Given the description of an element on the screen output the (x, y) to click on. 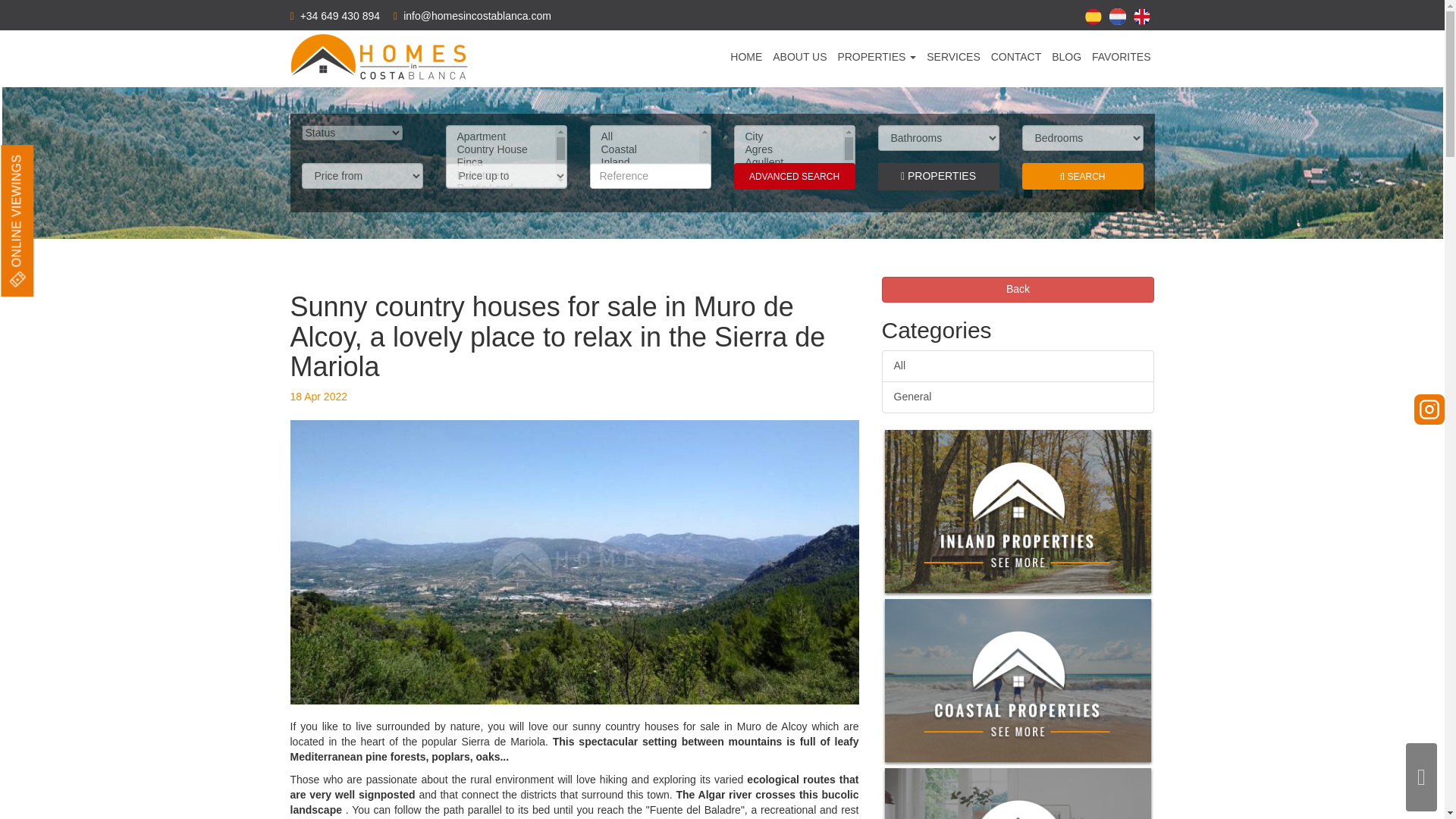
SERVICES (952, 56)
Back (1017, 289)
PROPERTIES (876, 56)
ABOUT US (800, 56)
FAVORITES (1121, 56)
CONTACT (1016, 56)
SEARCH (1082, 175)
BLOG (1066, 56)
HOME (745, 56)
All (1017, 366)
ADVANCED SEARCH (794, 175)
General (1017, 397)
